Given the description of an element on the screen output the (x, y) to click on. 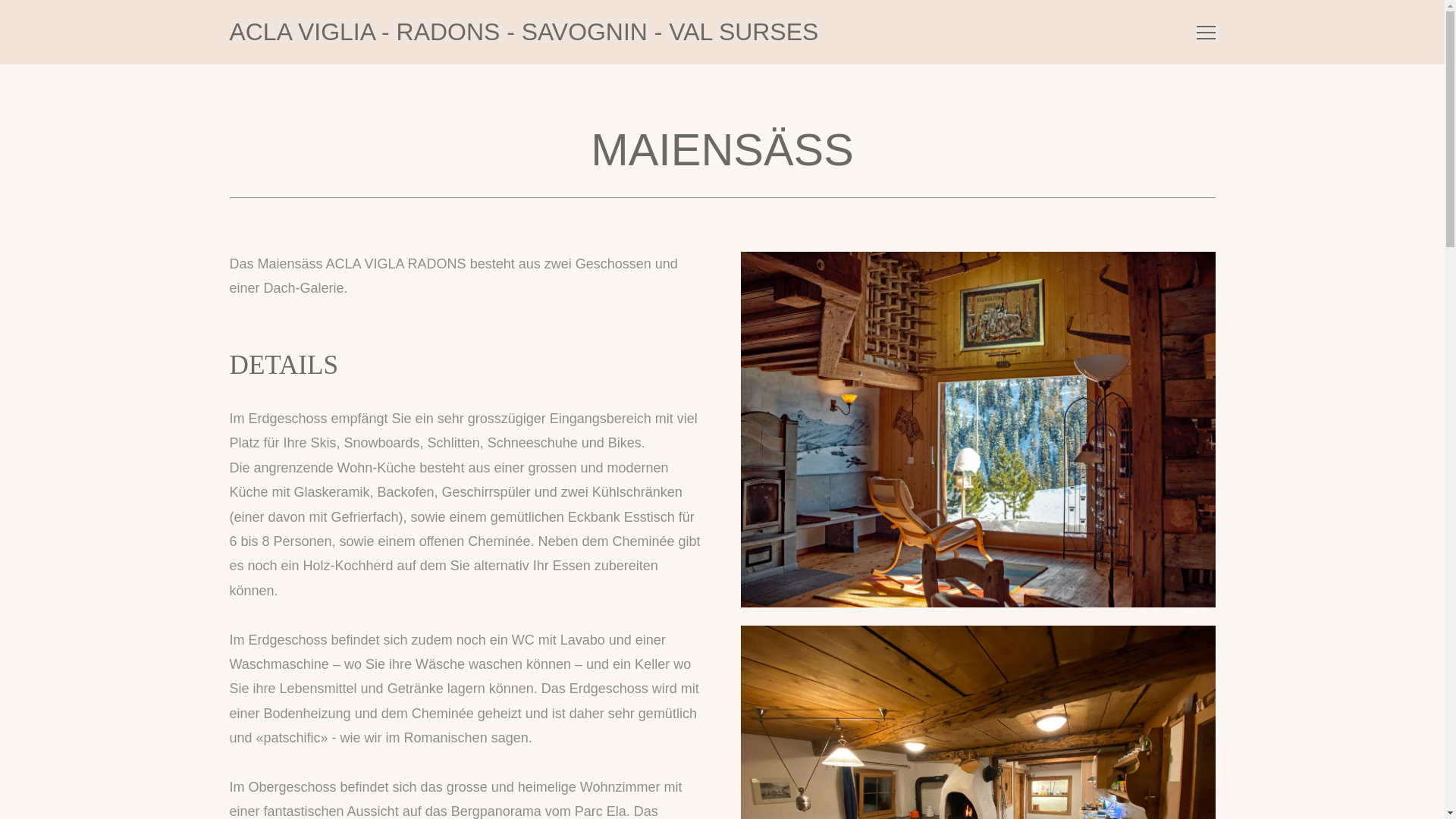
ACLA VIGLIA - RADONS - SAVOGNIN - VAL SURSES Element type: text (523, 31)
